Given the description of an element on the screen output the (x, y) to click on. 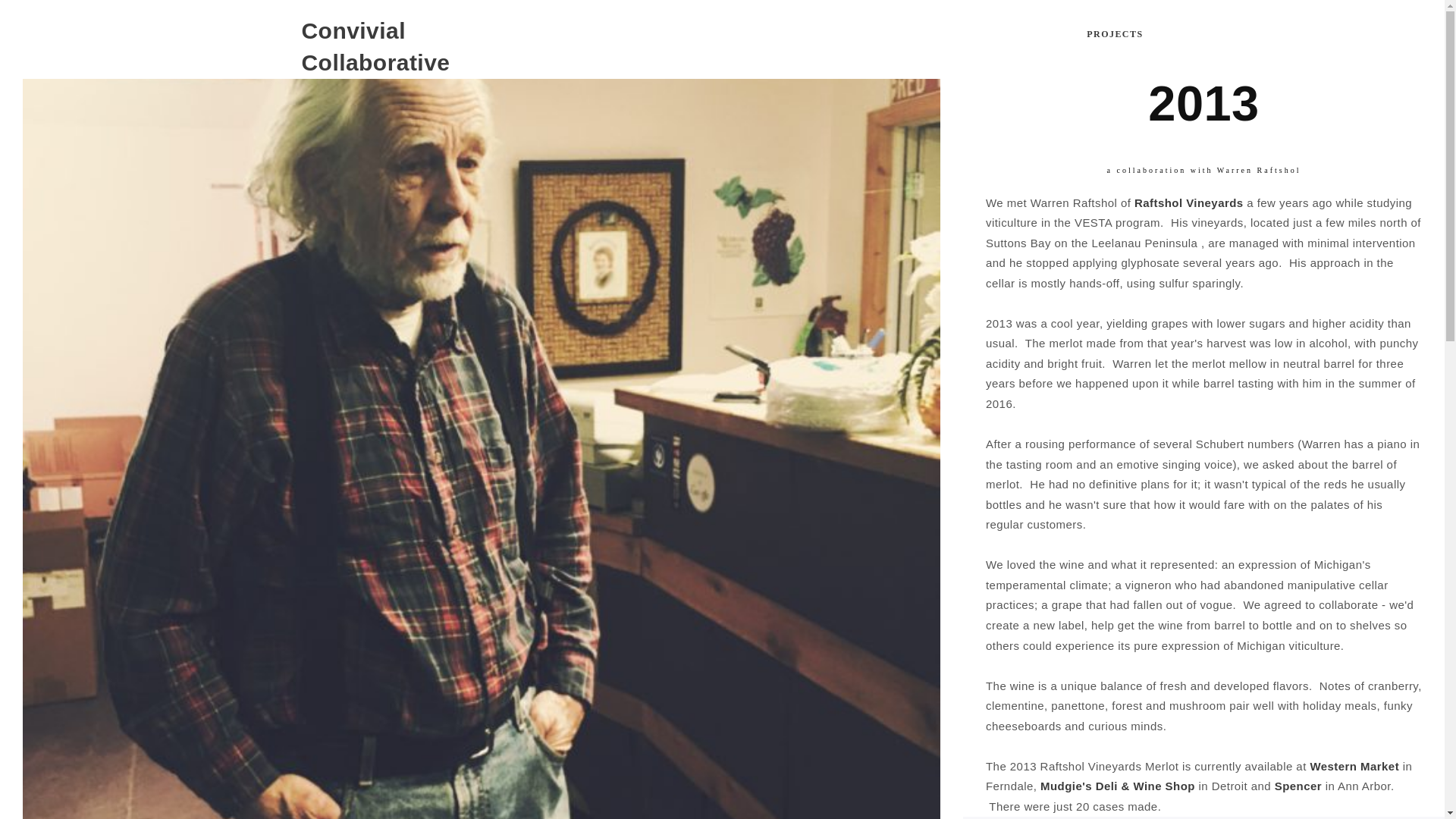
Raftshol Vineyards (1188, 201)
Spencer (1298, 785)
Convivial Collaborative (390, 39)
Western Market (1353, 766)
PROJECTS (1114, 33)
